Given the description of an element on the screen output the (x, y) to click on. 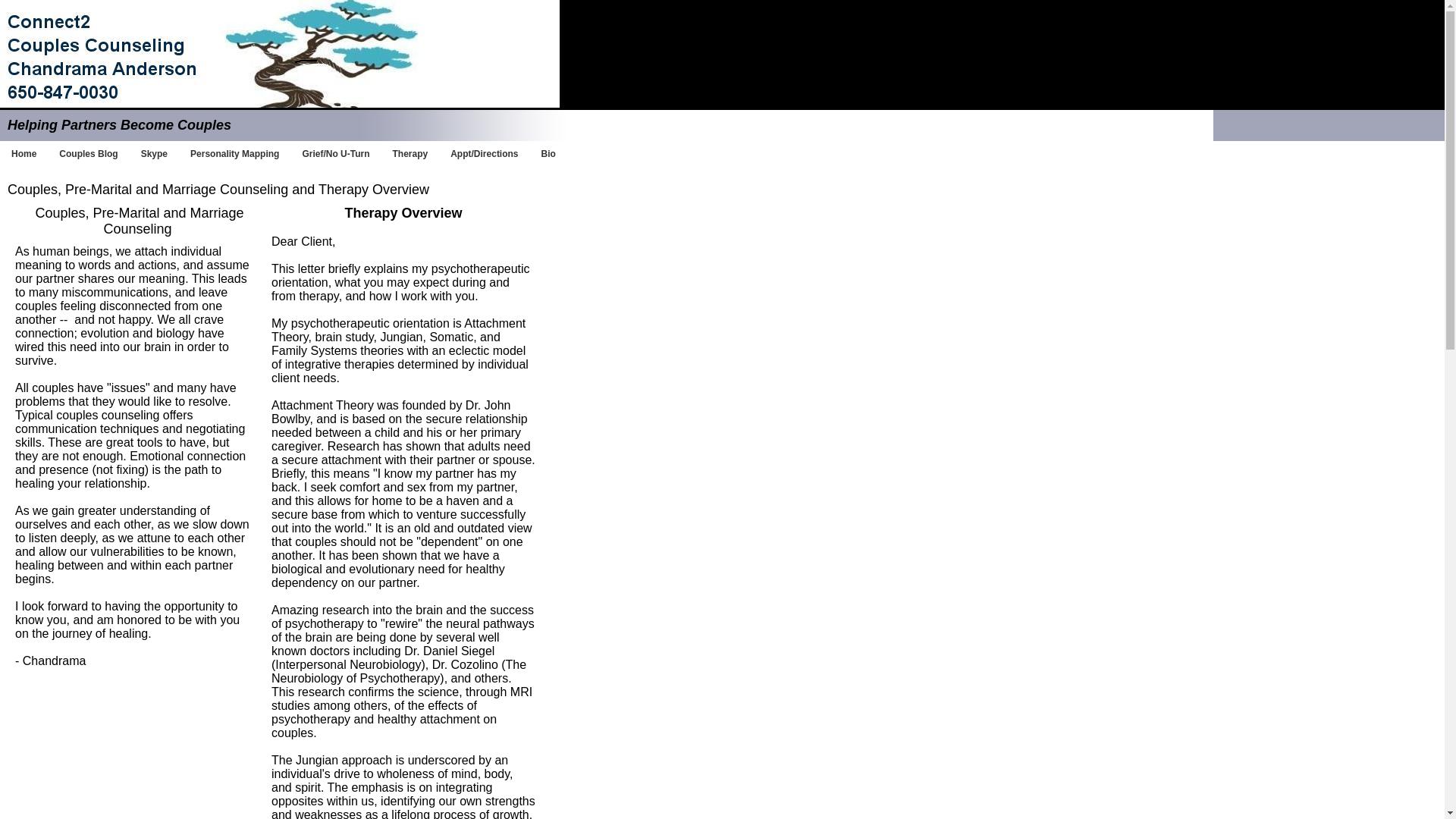
Home (24, 151)
Therapy (410, 151)
Personality Mapping (234, 151)
Couples Blog (88, 151)
Bio (548, 151)
Skype (154, 151)
